Given the description of an element on the screen output the (x, y) to click on. 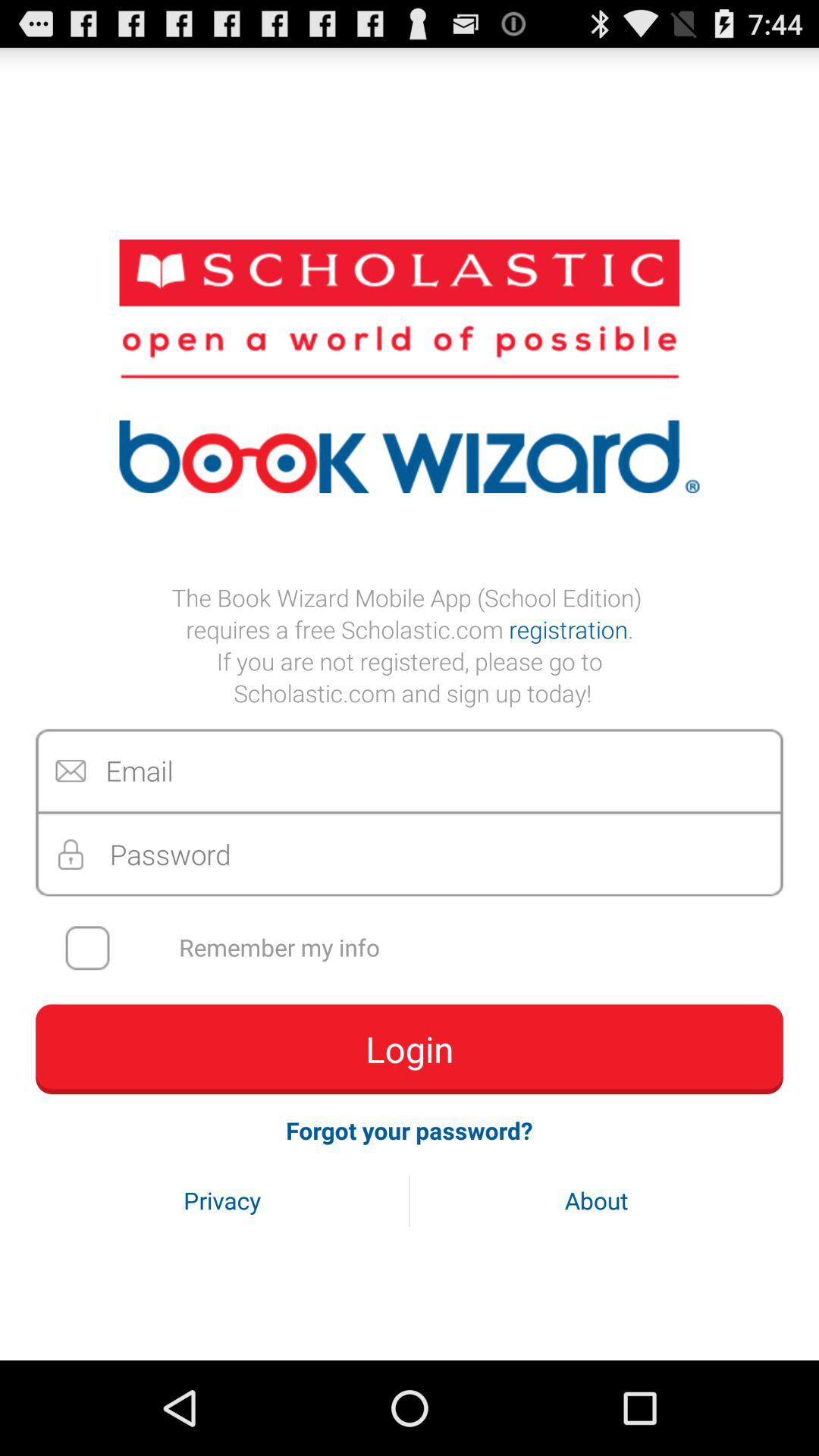
swipe to about button (596, 1200)
